Given the description of an element on the screen output the (x, y) to click on. 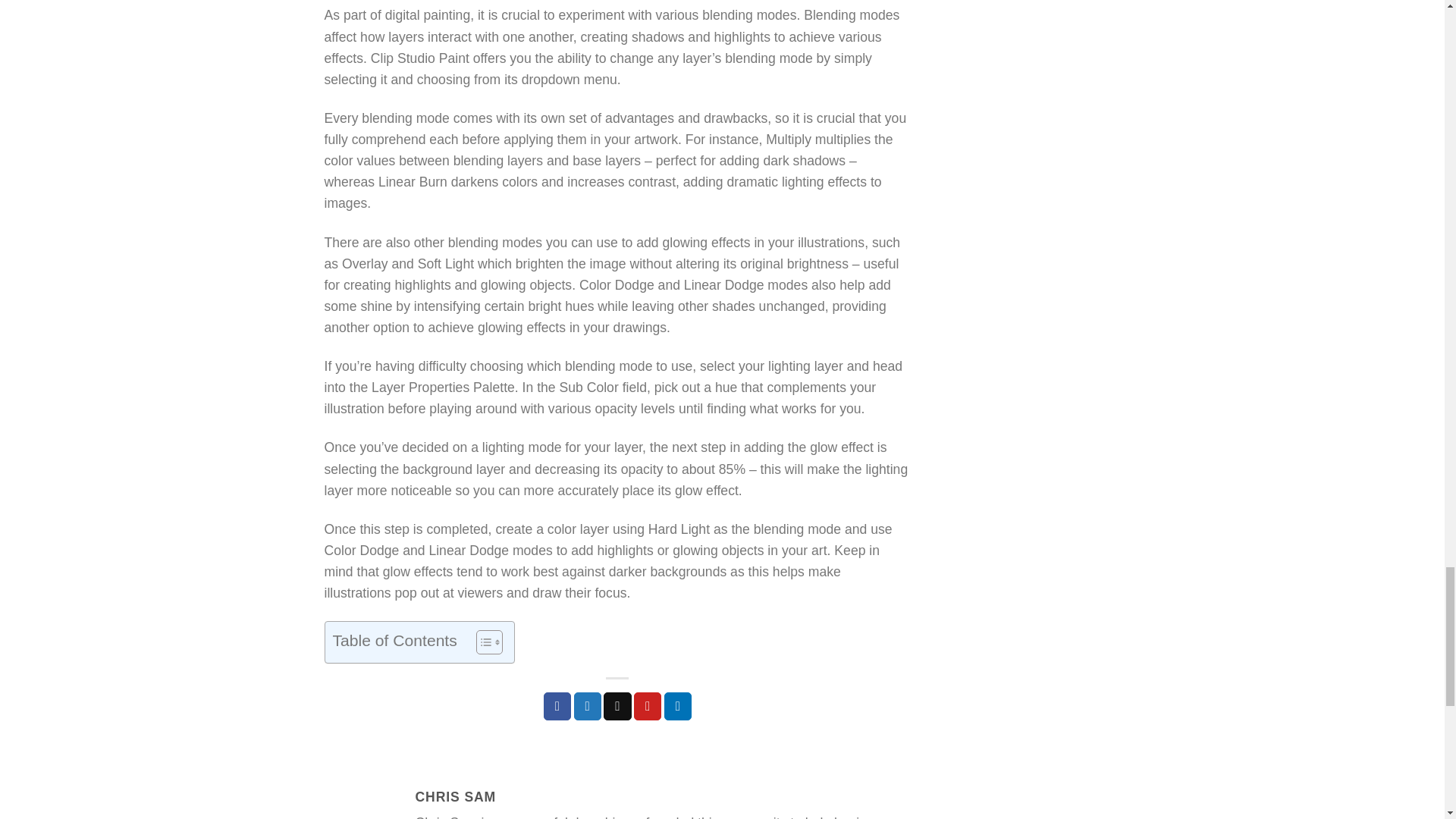
Pin on Pinterest (647, 706)
Share on Facebook (556, 706)
Share on Twitter (587, 706)
Email to a Friend (617, 706)
